Given the description of an element on the screen output the (x, y) to click on. 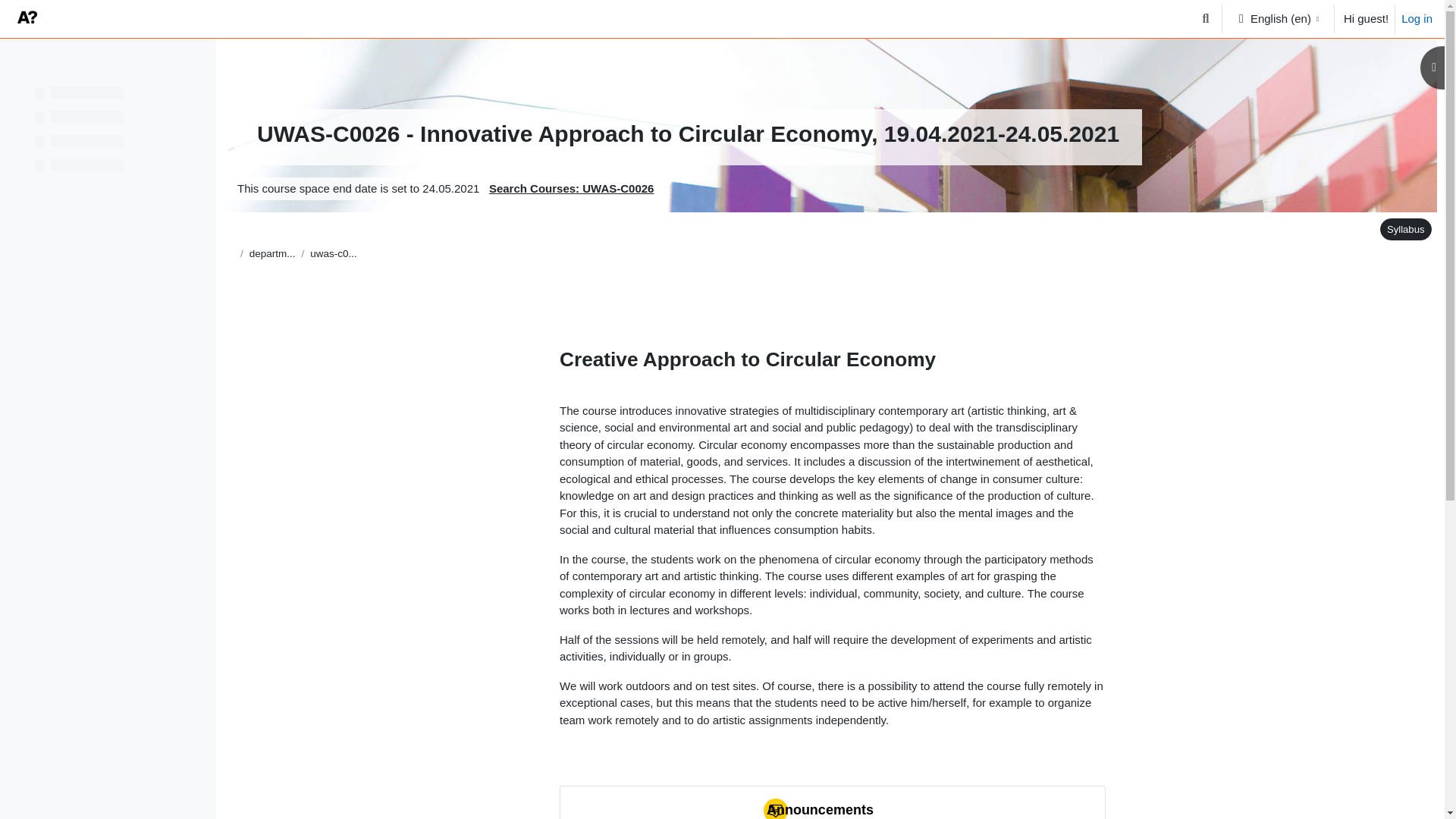
View course syllabus (1402, 229)
Syllabus (1405, 229)
